Given the description of an element on the screen output the (x, y) to click on. 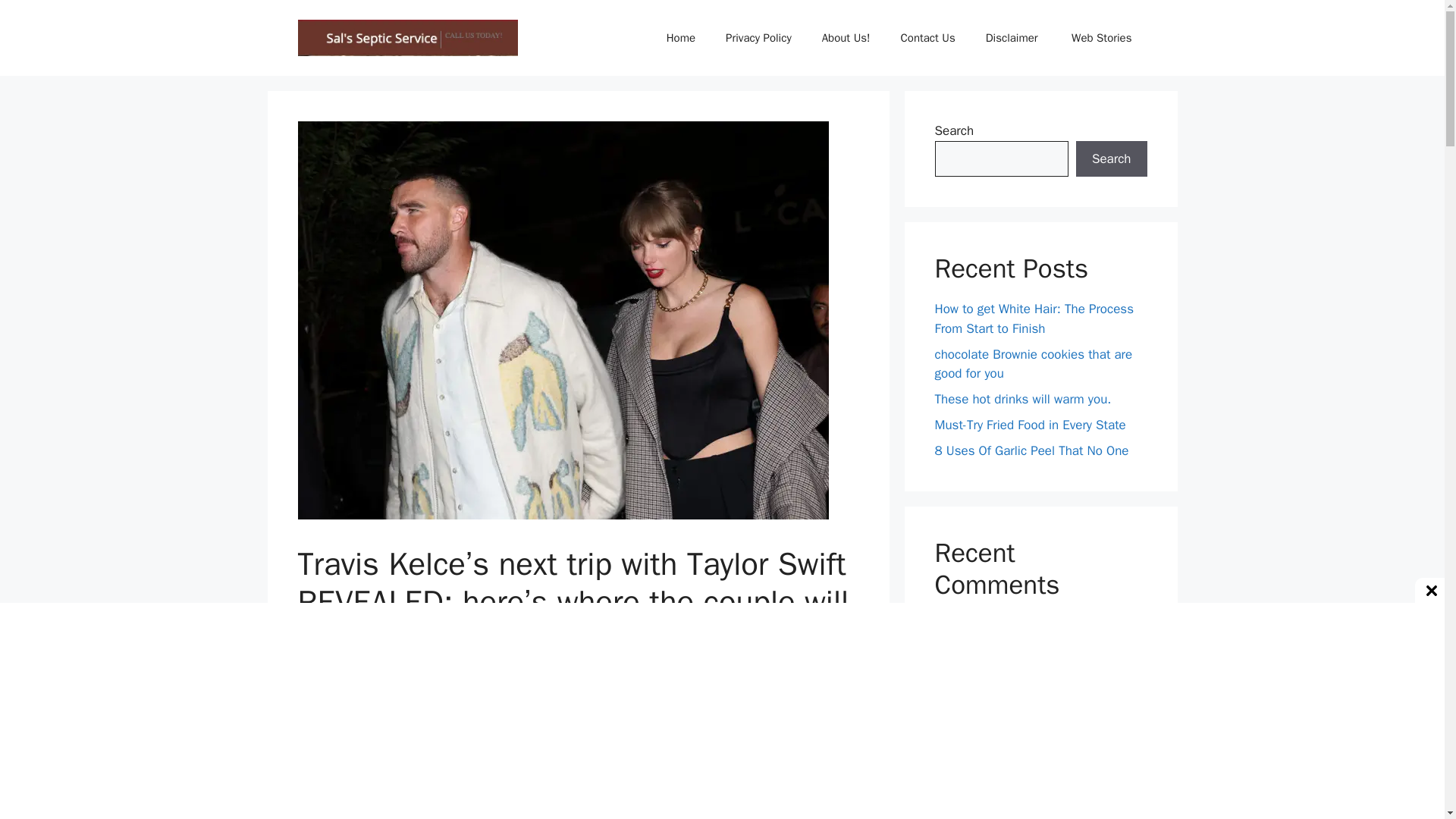
Must-Try Fried Food in Every State (1029, 424)
Web Stories (1102, 37)
View all posts by admin (414, 672)
Advertisement (578, 763)
Privacy Policy (758, 37)
About Us! (845, 37)
Search (1111, 158)
chocolate Brownie cookies that are good for you (1033, 363)
These hot drinks will warm you. (1022, 399)
Contact Us (928, 37)
8 Uses Of Garlic Peel That No One (1031, 450)
How to get White Hair: The Process From Start to Finish (1033, 318)
Home (680, 37)
